Given the description of an element on the screen output the (x, y) to click on. 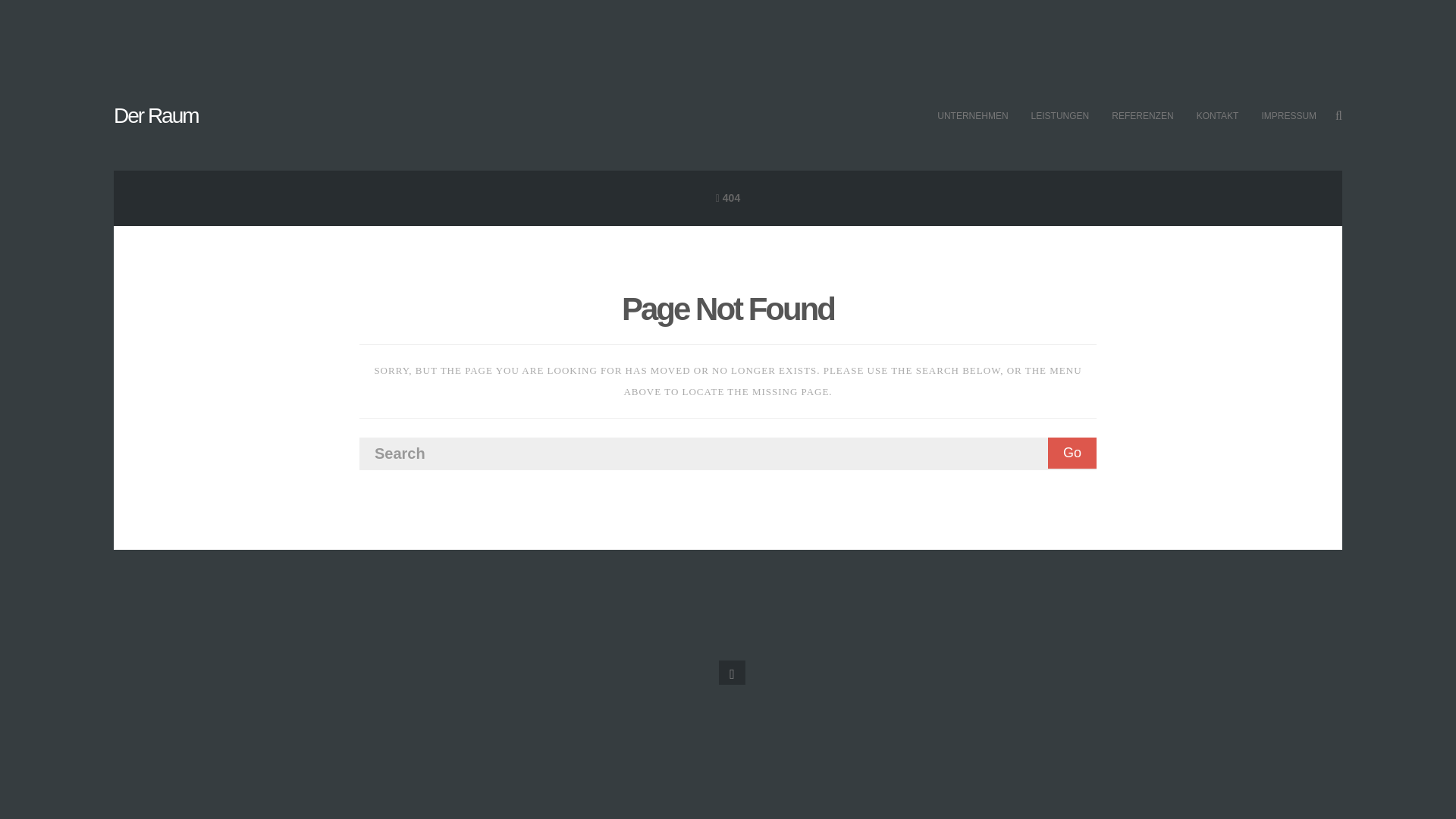
Der Raum (155, 115)
IMPRESSUM (1288, 116)
REFERENZEN (1141, 116)
LEISTUNGEN (1060, 116)
Go (1072, 452)
Page Not Found (727, 308)
KONTAKT (1217, 116)
Search (727, 453)
Go (1072, 452)
Go (1072, 452)
Der Raum (155, 115)
UNTERNEHMEN (972, 116)
Search (727, 453)
